Given the description of an element on the screen output the (x, y) to click on. 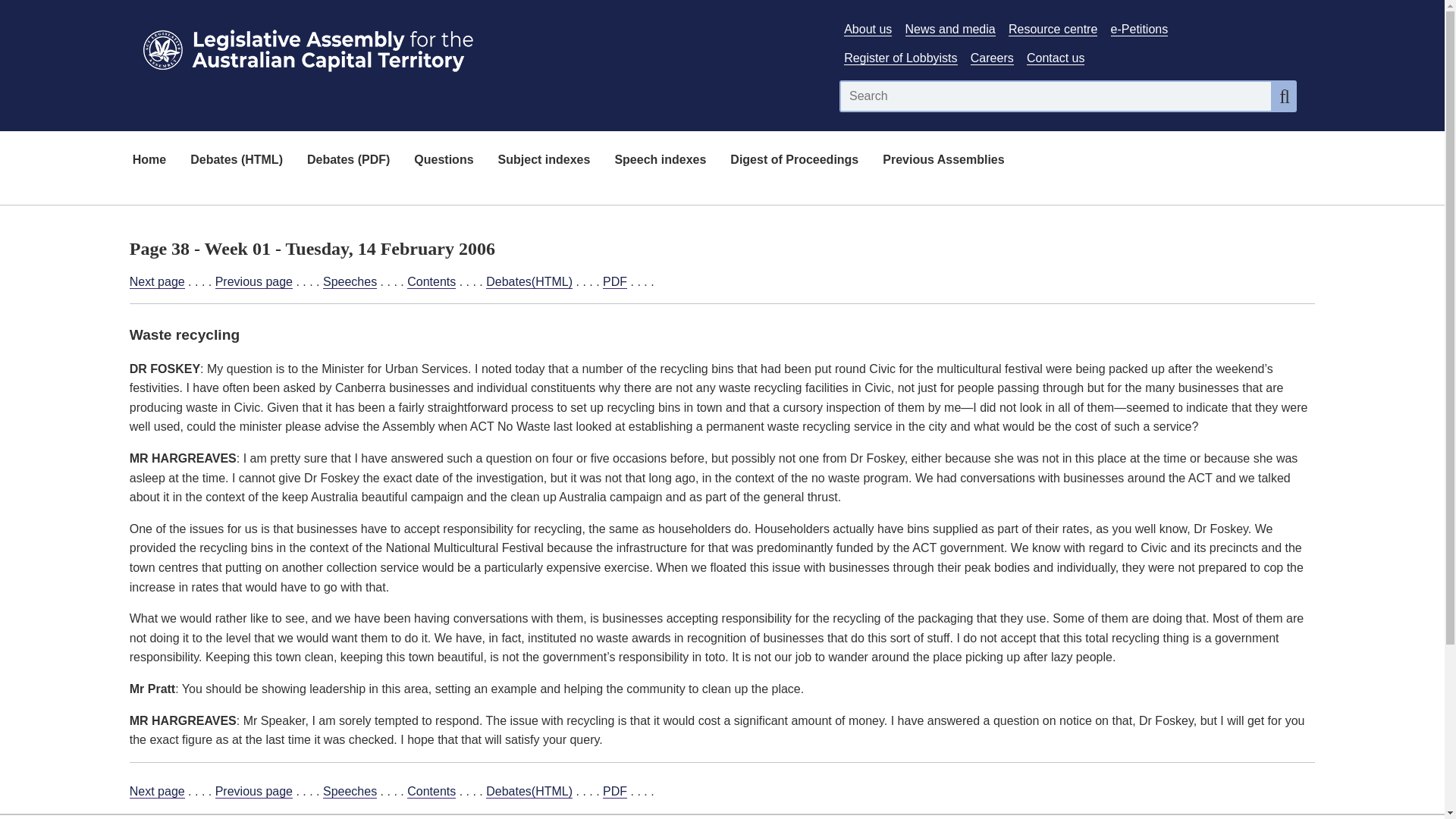
Link to About Us (867, 29)
Contact us (1055, 58)
About us (867, 29)
Speeches (350, 791)
Previous Assemblies (943, 160)
Subject indexes (544, 160)
Next page (156, 791)
Link to News and media (950, 29)
Link to Resource centre (1053, 29)
Speeches (350, 282)
